Given the description of an element on the screen output the (x, y) to click on. 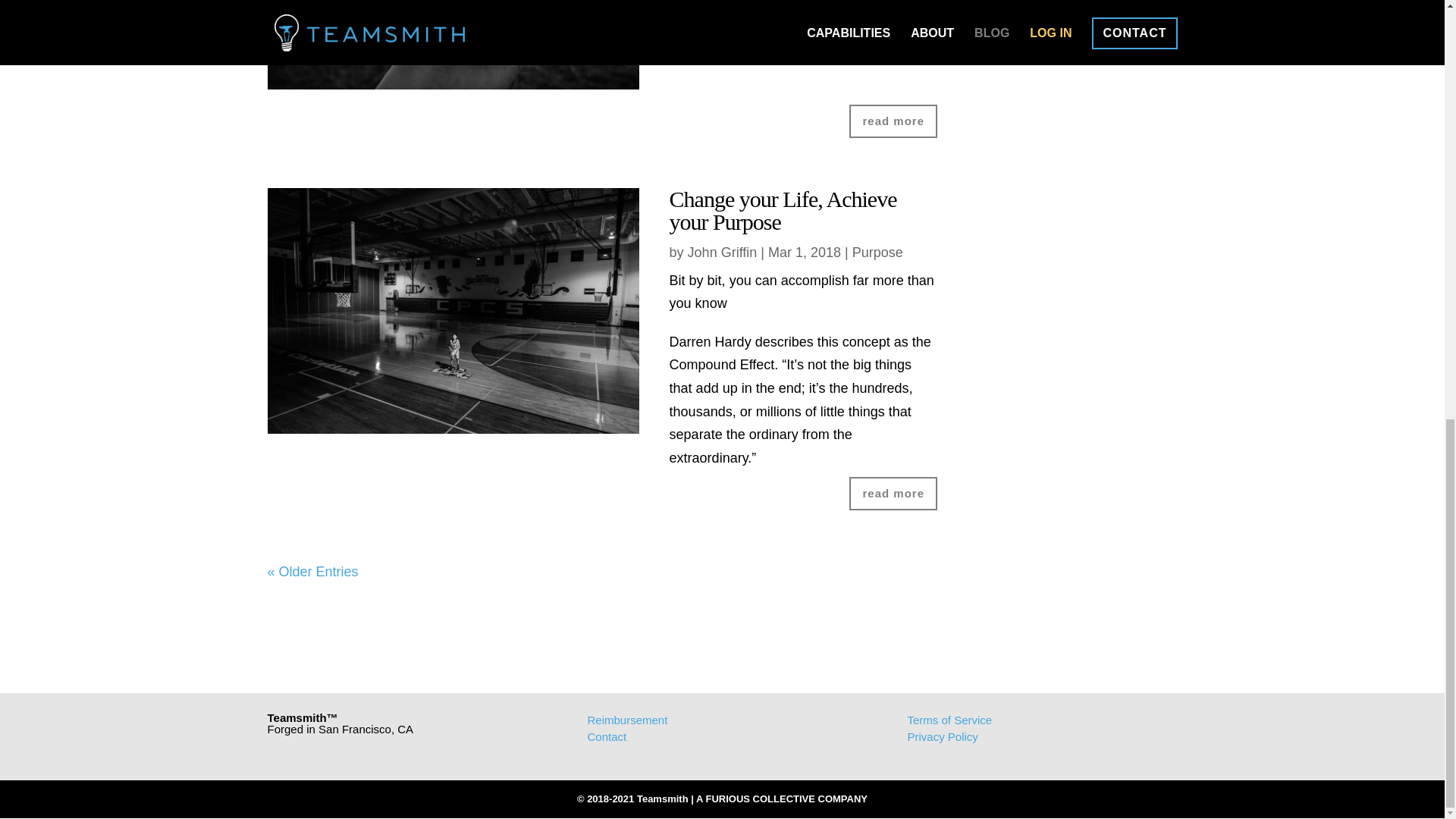
Terms of Service (949, 719)
John Griffin (722, 252)
read more (892, 493)
Purpose (876, 252)
Privacy Policy (941, 736)
Change your Life, Achieve your Purpose (782, 210)
Reimbursement (626, 719)
Posts by John Griffin (722, 252)
Contact (606, 736)
read more (892, 121)
